Given the description of an element on the screen output the (x, y) to click on. 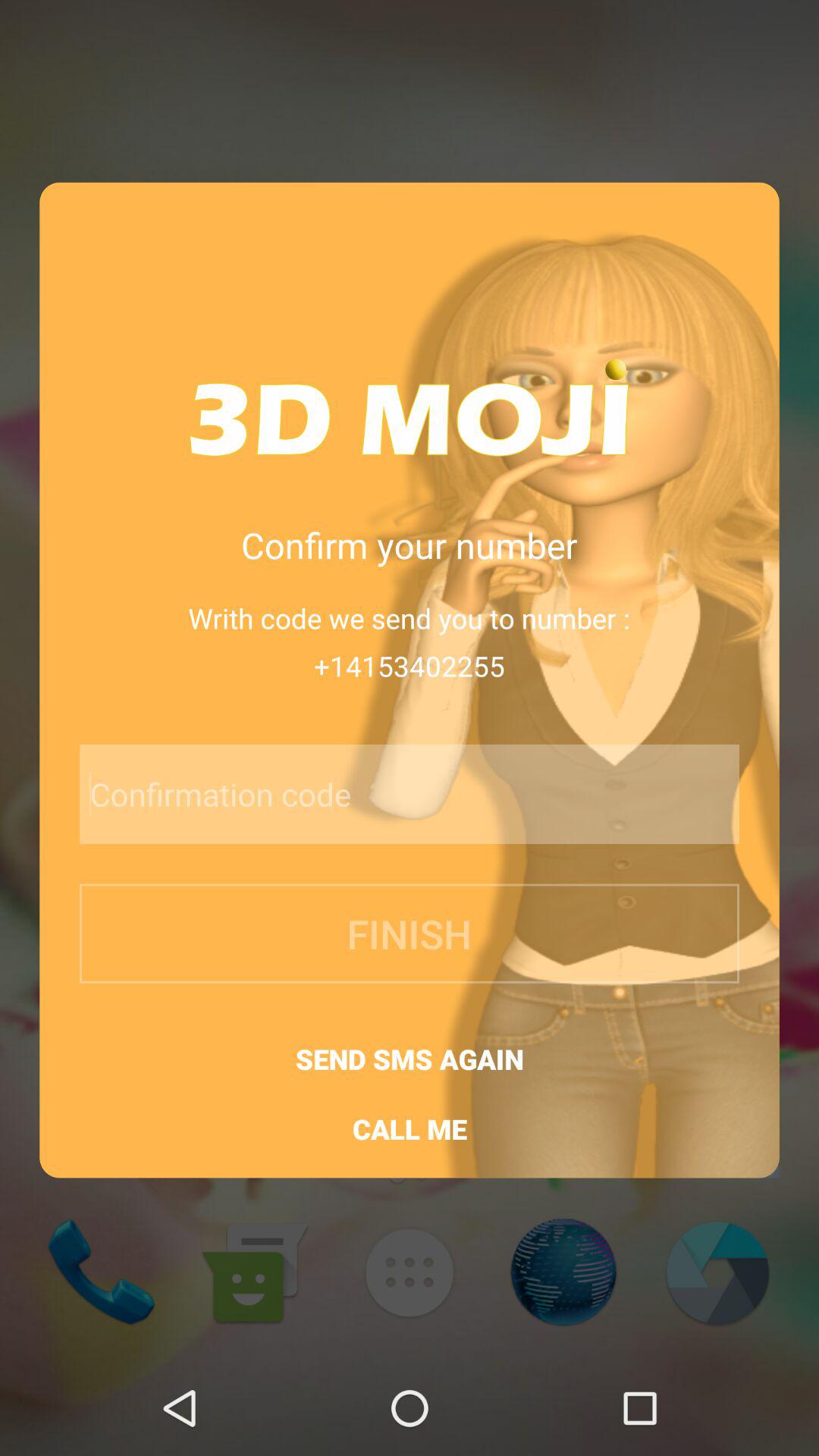
swipe until call me icon (409, 1129)
